Given the description of an element on the screen output the (x, y) to click on. 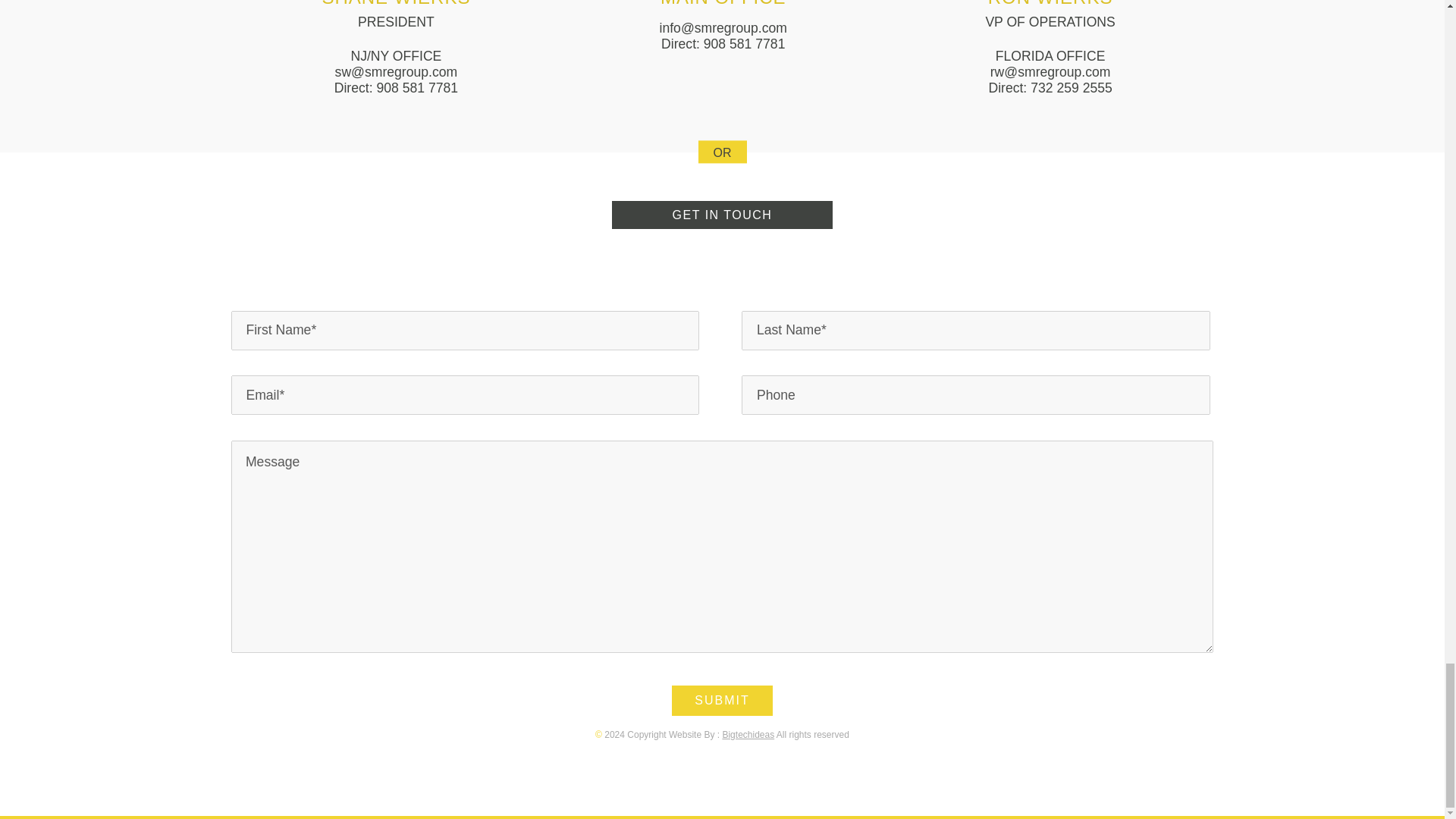
Submit (721, 700)
Submit (721, 700)
Bigtechideas (748, 734)
